Given the description of an element on the screen output the (x, y) to click on. 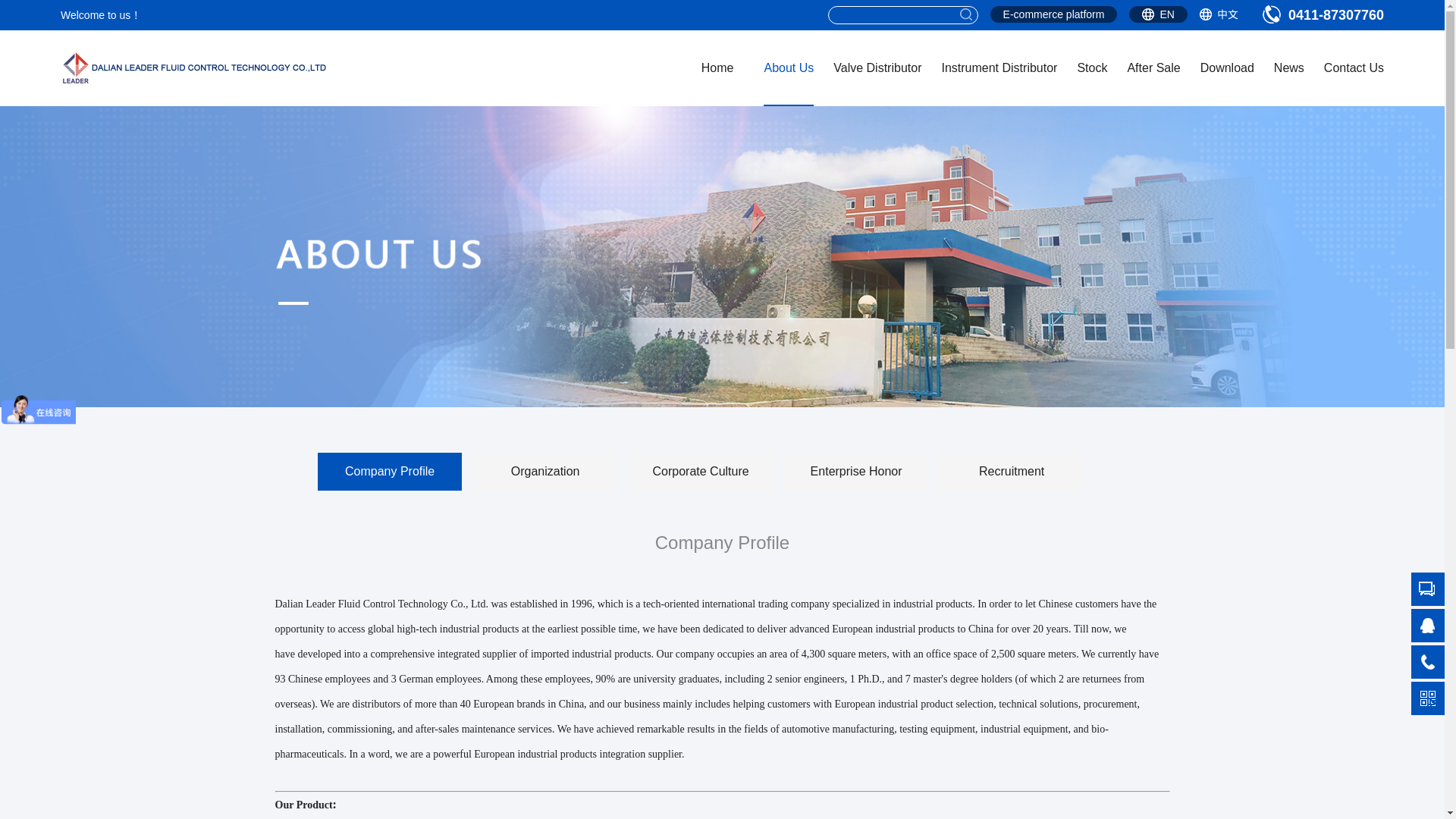
Instrument Distributor (998, 68)
Dalian Lidi fluid control technology Co., Ltd (195, 67)
Instrument Distributor (998, 68)
Valve Distributor (876, 68)
Valve Distributor (876, 68)
EN (1157, 13)
E-commerce platform (1054, 13)
